Given the description of an element on the screen output the (x, y) to click on. 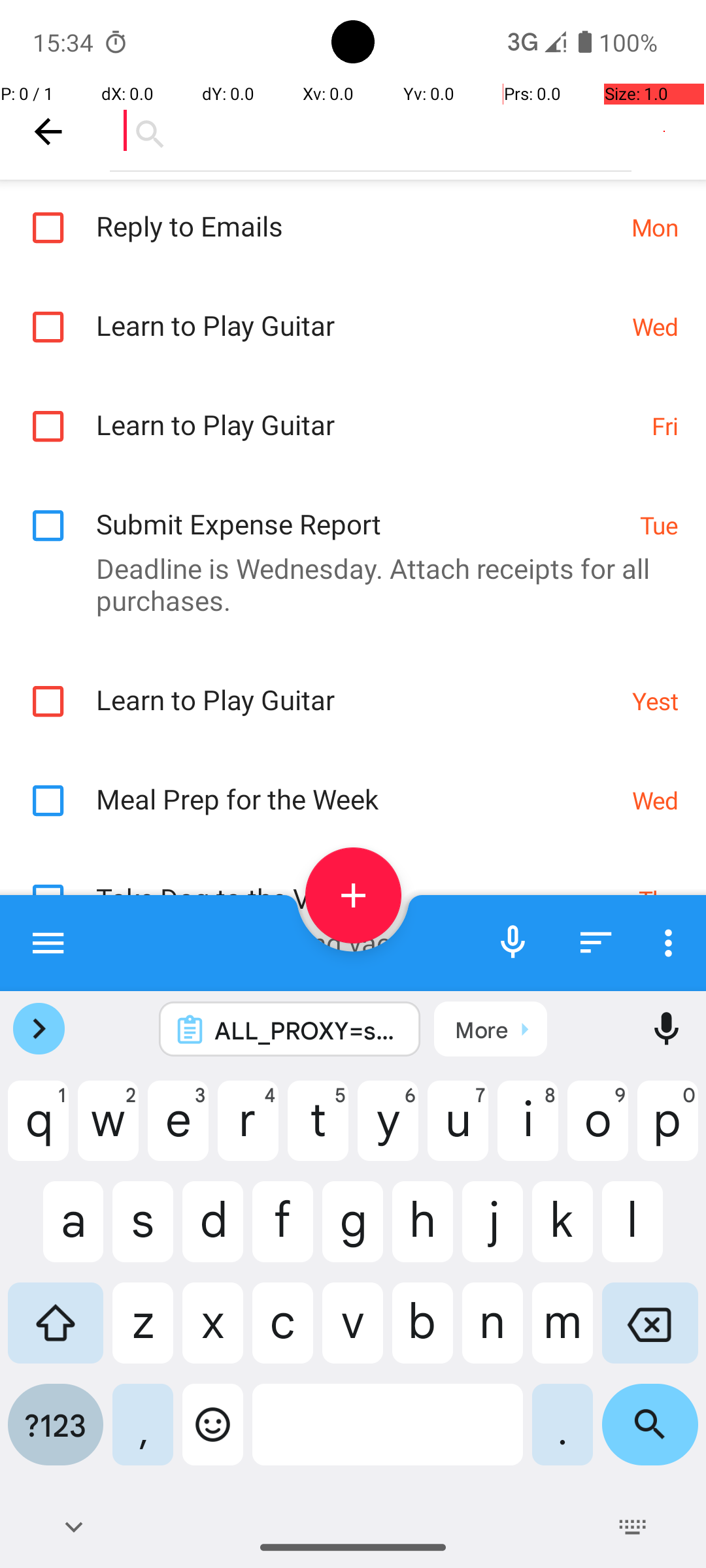
Sort Element type: android.widget.Button (595, 942)
    Element type: android.widget.AutoCompleteTextView (370, 130)
Reply to Emails Element type: android.widget.TextView (356, 211)
Mon Element type: android.widget.TextView (654, 226)
Learn to Play Guitar Element type: android.widget.TextView (357, 310)
Wed Element type: android.widget.TextView (655, 325)
Fri Element type: android.widget.TextView (665, 425)
Submit Expense Report Element type: android.widget.TextView (361, 509)
Deadline is Wednesday. Attach receipts for all purchases. Element type: android.widget.TextView (346, 583)
Tue Element type: android.widget.TextView (659, 524)
Yest Element type: android.widget.TextView (655, 700)
Meal Prep for the Week Element type: android.widget.TextView (357, 784)
Take Dog to the Vet Element type: android.widget.TextView (360, 883)
Annual checkup and vaccinations due. Element type: android.widget.TextView (346, 942)
Thu Element type: android.widget.TextView (658, 898)
